Given the description of an element on the screen output the (x, y) to click on. 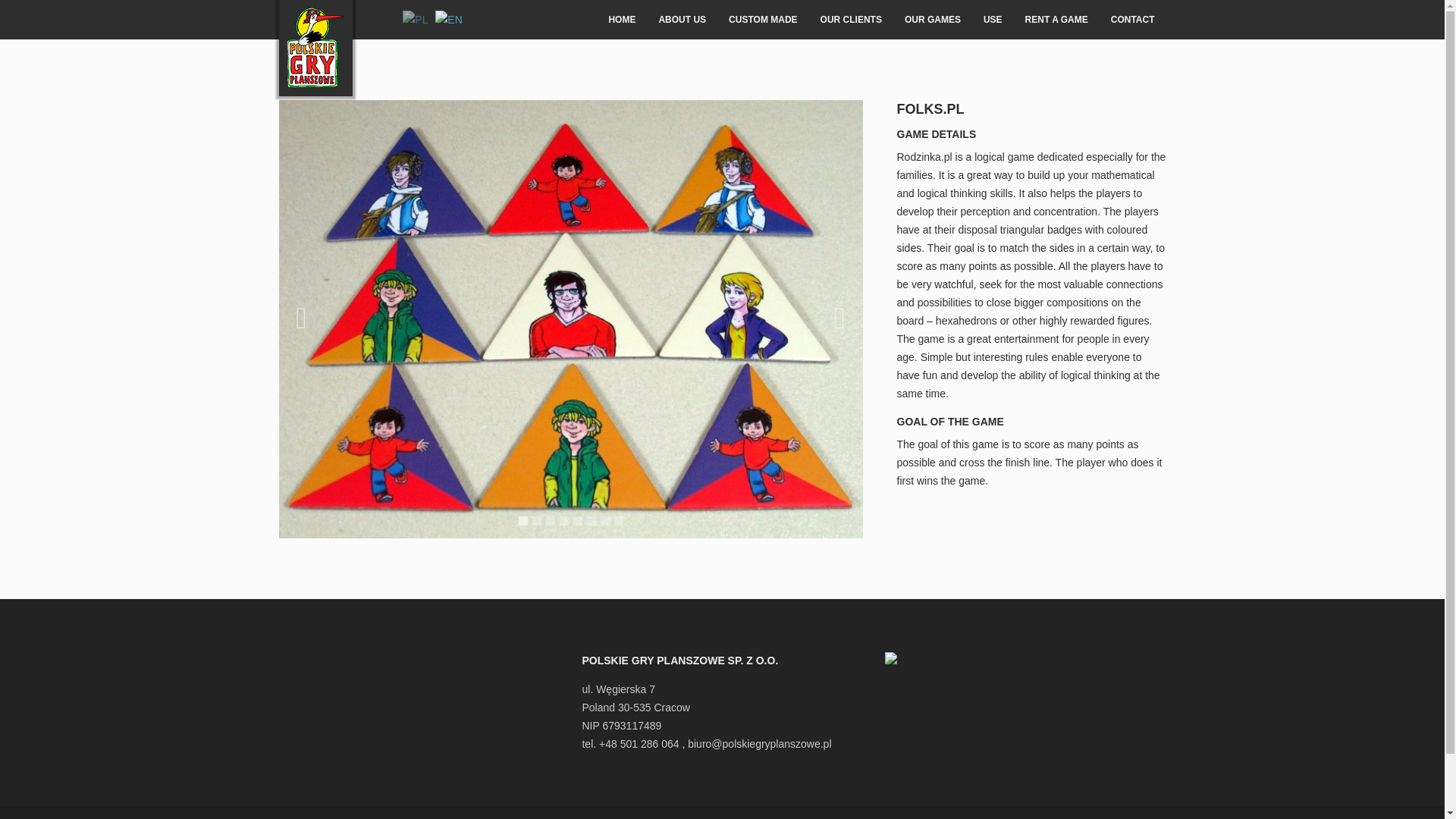
About us (681, 19)
OUR CLIENTS (851, 19)
USE (992, 19)
HOME (621, 19)
OUR CLIENTS (851, 19)
RENT A GAME (1056, 19)
Contact (1132, 19)
Use (992, 19)
CONTACT (1132, 19)
CUSTOM MADE (762, 19)
ABOUT US (681, 19)
OUR GAMES (932, 19)
HOME (621, 19)
Custom made (762, 19)
OUR GAMES (932, 19)
